Given the description of an element on the screen output the (x, y) to click on. 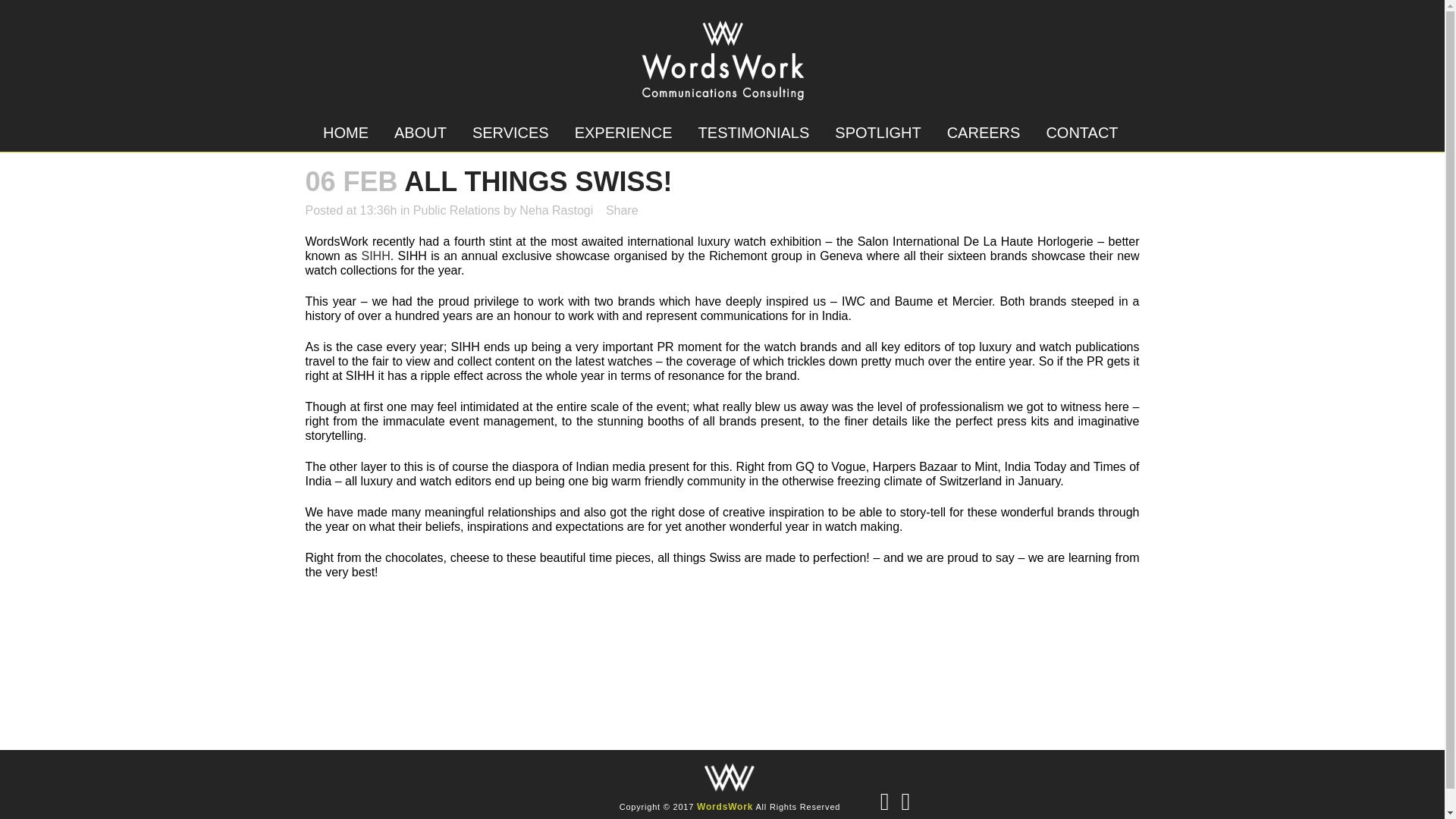
SERVICES (511, 132)
TESTIMONIALS (753, 132)
CAREERS (983, 132)
Public Relations (456, 210)
SIHH (375, 255)
CONTACT (1081, 132)
EXPERIENCE (623, 132)
SPOTLIGHT (877, 132)
HOME (345, 132)
ABOUT (420, 132)
Share (622, 210)
WordsWork (724, 806)
Neha Rastogi (555, 210)
